Given the description of an element on the screen output the (x, y) to click on. 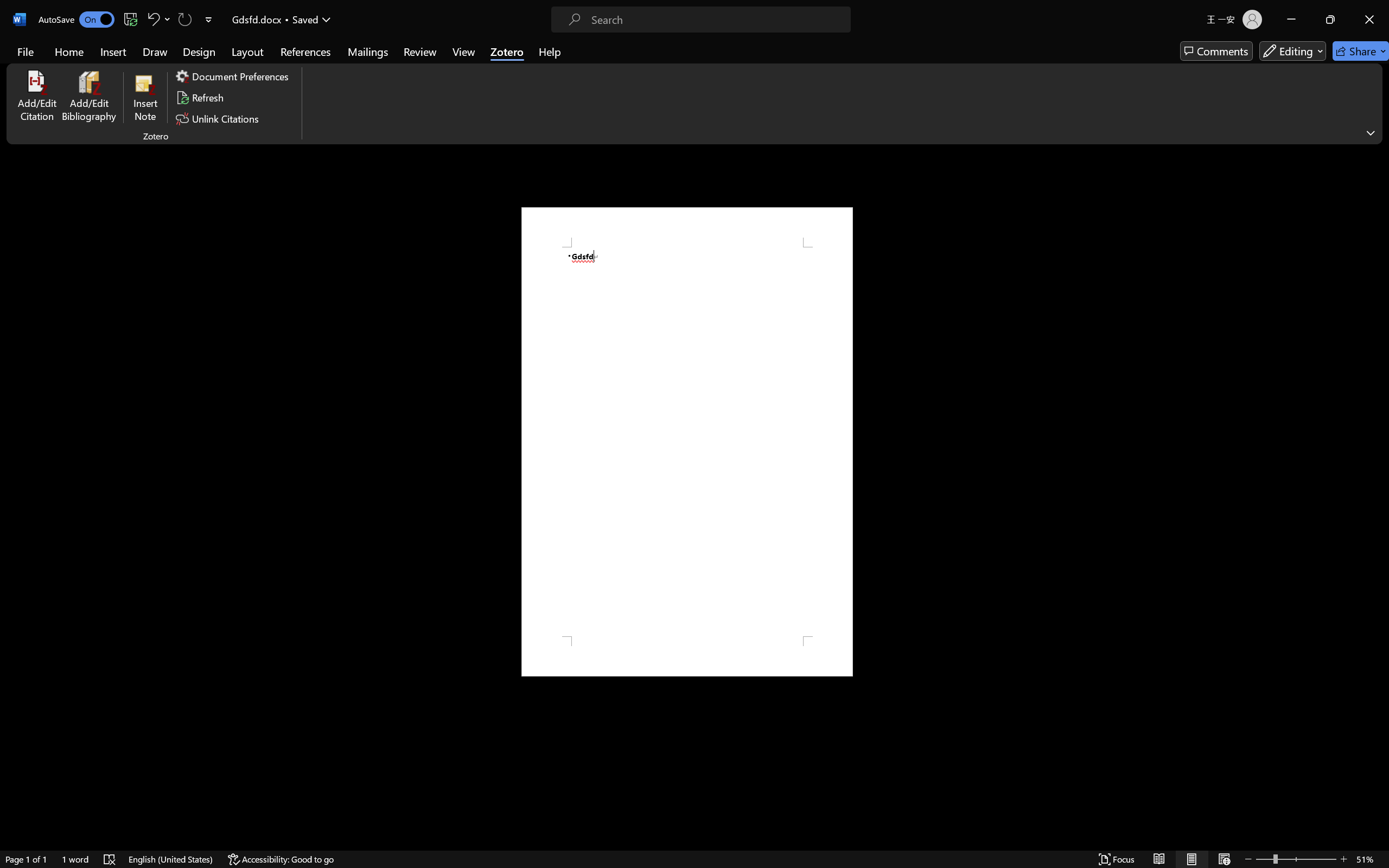
Page 1 content (686, 441)
